Given the description of an element on the screen output the (x, y) to click on. 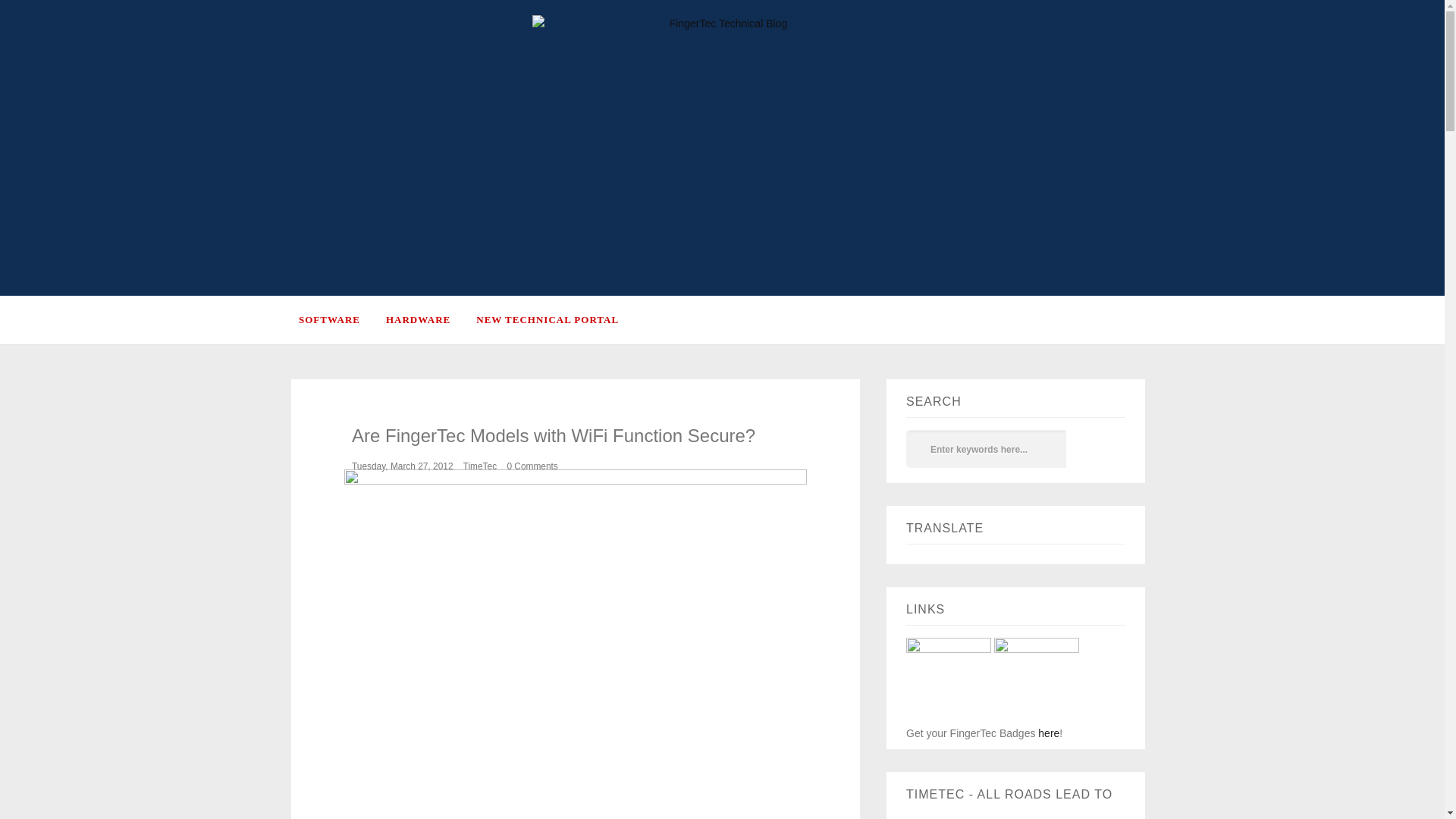
HARDWARE (430, 319)
SOFTWARE (341, 319)
NEW TECHNICAL PORTAL (559, 319)
